Given the description of an element on the screen output the (x, y) to click on. 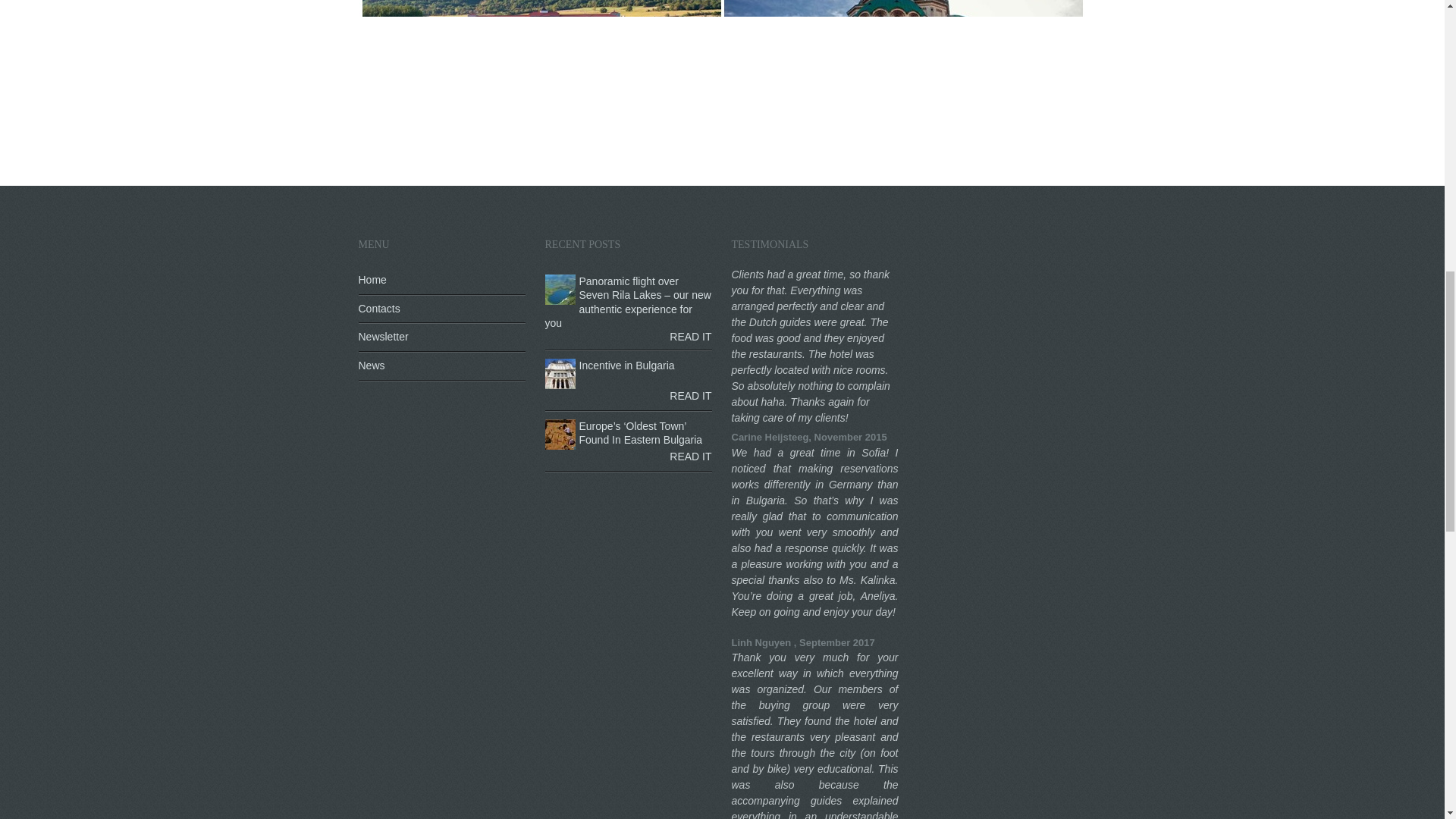
Newsletter (441, 337)
READ IT (690, 395)
READ IT (690, 336)
Contacts (441, 309)
Home (441, 280)
Incentive in Bulgaria (627, 365)
News (441, 366)
READ IT (690, 456)
